Given the description of an element on the screen output the (x, y) to click on. 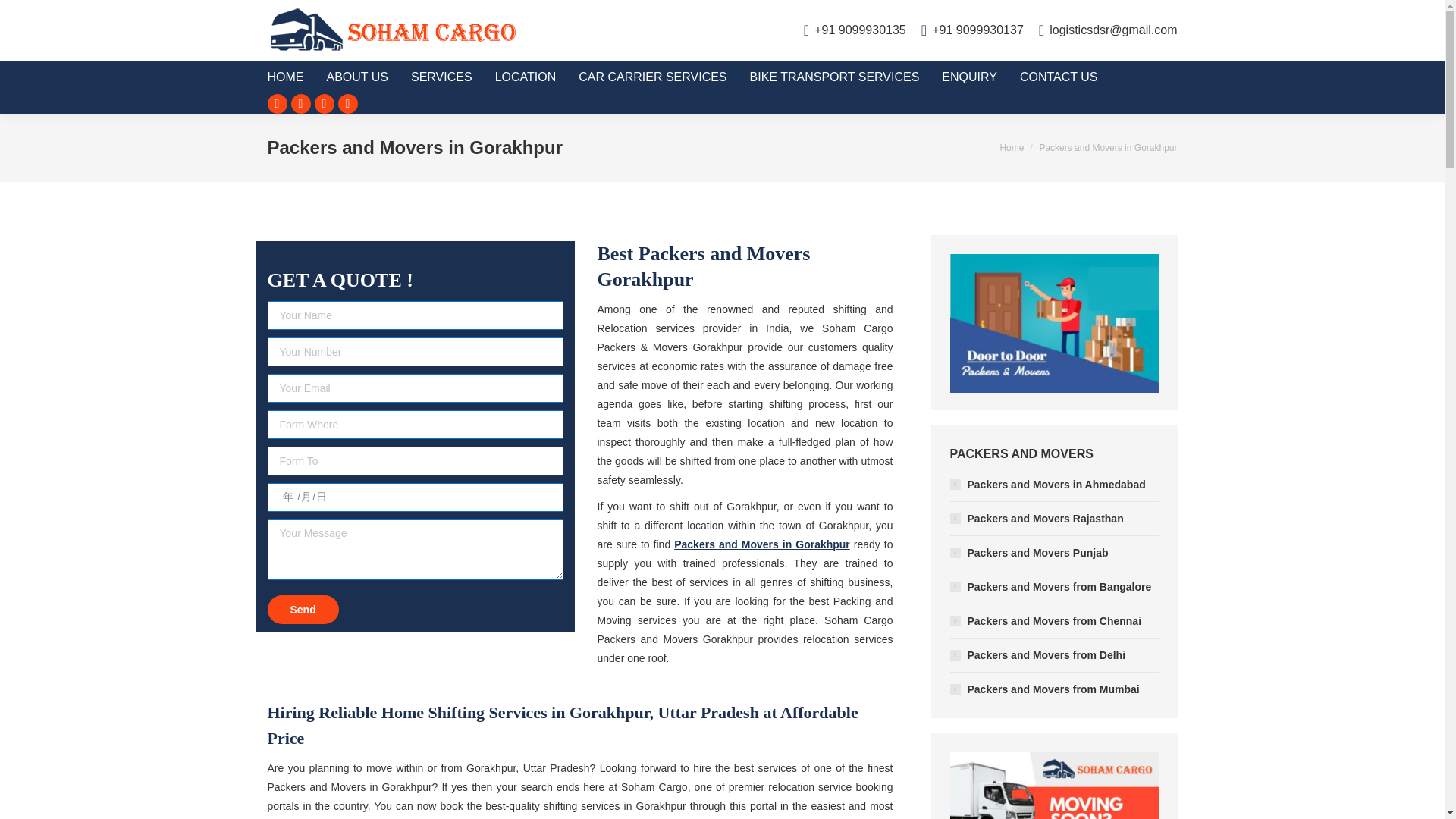
ABOUT US (368, 77)
YouTube page opens in new window (347, 103)
Twitter page opens in new window (301, 103)
Instagram page opens in new window (323, 103)
SERVICES (452, 77)
CAR CARRIER SERVICES (663, 77)
Send (301, 608)
Facebook page opens in new window (276, 103)
LOCATION (537, 77)
HOME (296, 77)
